Given the description of an element on the screen output the (x, y) to click on. 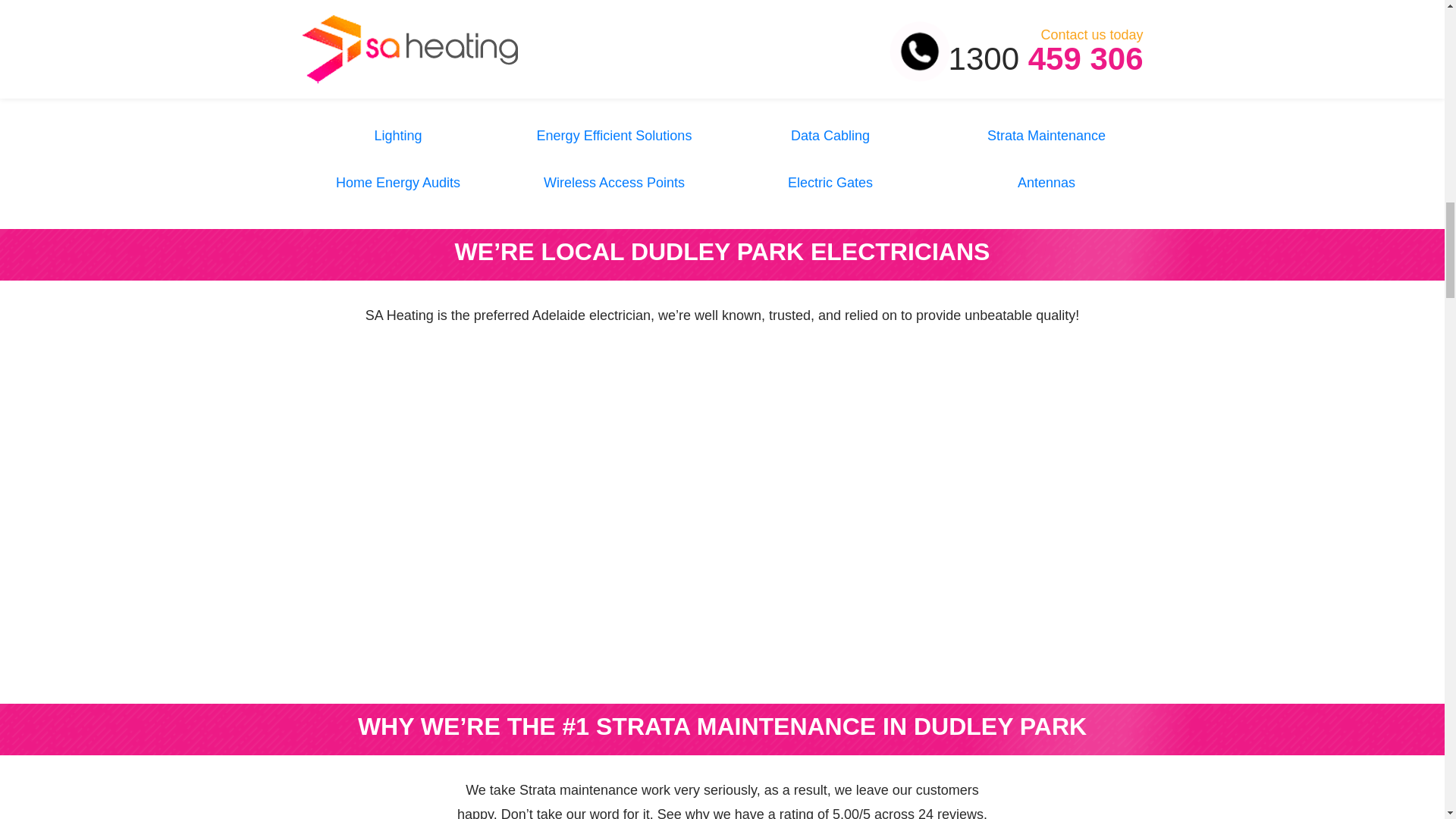
Oven Stove and Cook-tops (1045, 88)
Energy Efficient Solutions (615, 135)
Energy Efficient Solutions in Dudley park (615, 135)
Wireless Access Points in Dudley park (613, 182)
Ceiling Fans (829, 41)
Smoke Alarm Detectors (829, 88)
Hot Water Systems in Dudley park (398, 88)
Strata Maintenance (1046, 135)
Electric Gates (829, 182)
Home Energy Audits (398, 182)
Strata Maintenance in Dudley park (1046, 135)
Lighting in Dudley park (398, 135)
Antennas (1046, 182)
Ceiling Fans in Dudley park (829, 41)
Smoke Alarm Detectors in Dudley park (829, 88)
